Given the description of an element on the screen output the (x, y) to click on. 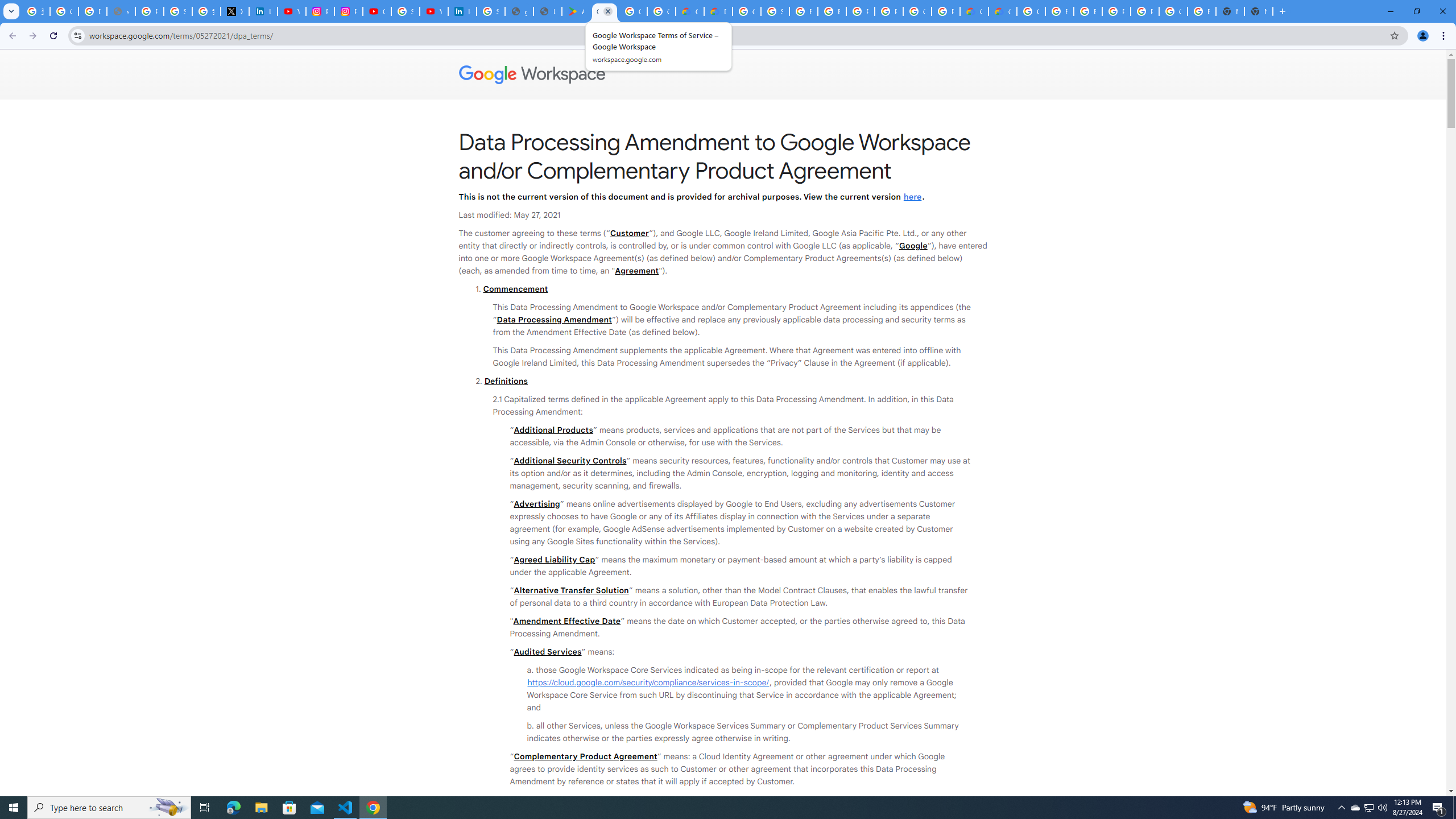
Browse Chrome as a guest - Computer - Google Chrome Help (831, 11)
support.google.com - Network error (120, 11)
Google Workspace (723, 74)
Google Cloud Platform (746, 11)
